Given the description of an element on the screen output the (x, y) to click on. 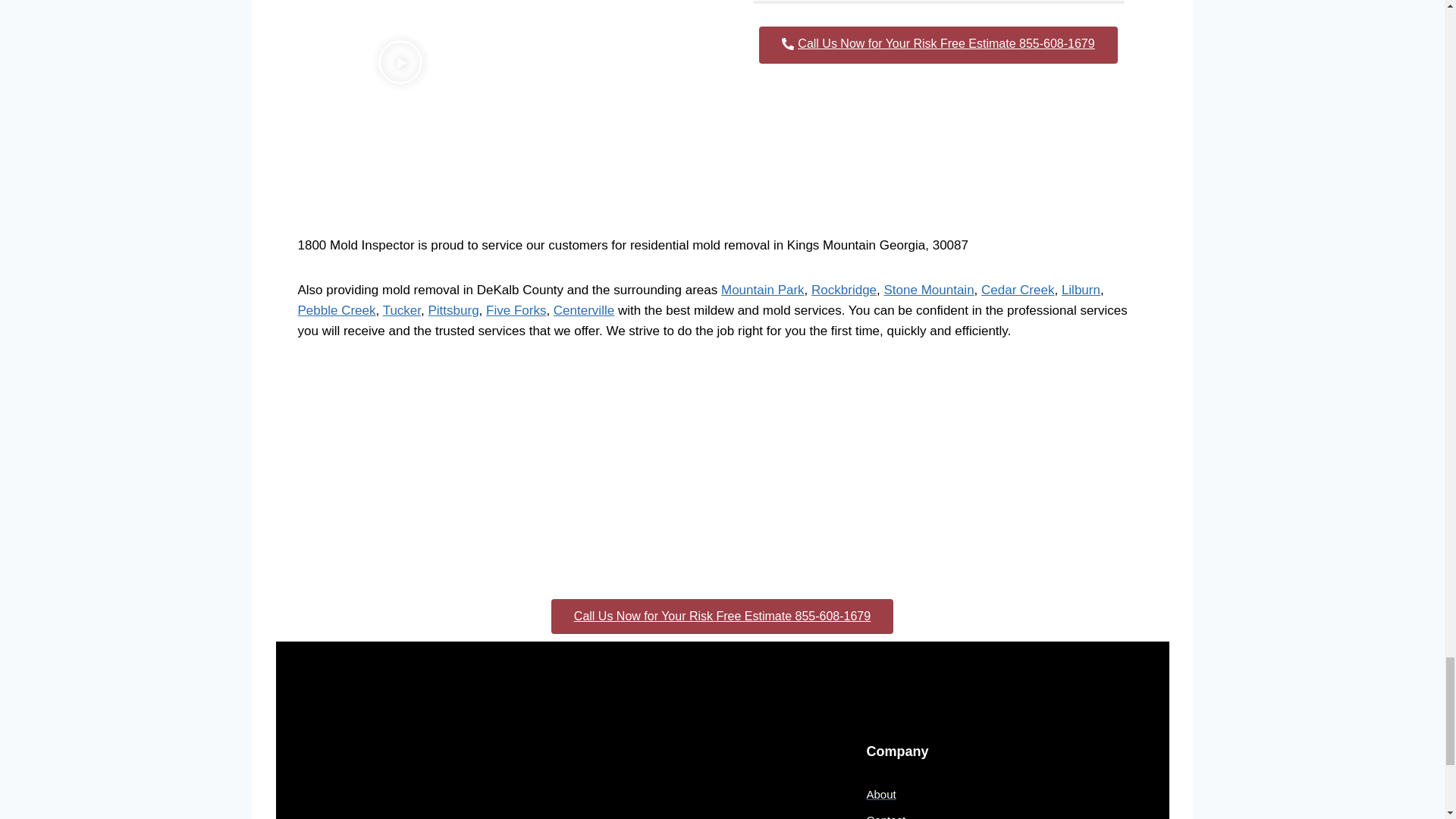
Call Us Now for Your Risk Free Estimate 855-608-1679 (937, 44)
